Given the description of an element on the screen output the (x, y) to click on. 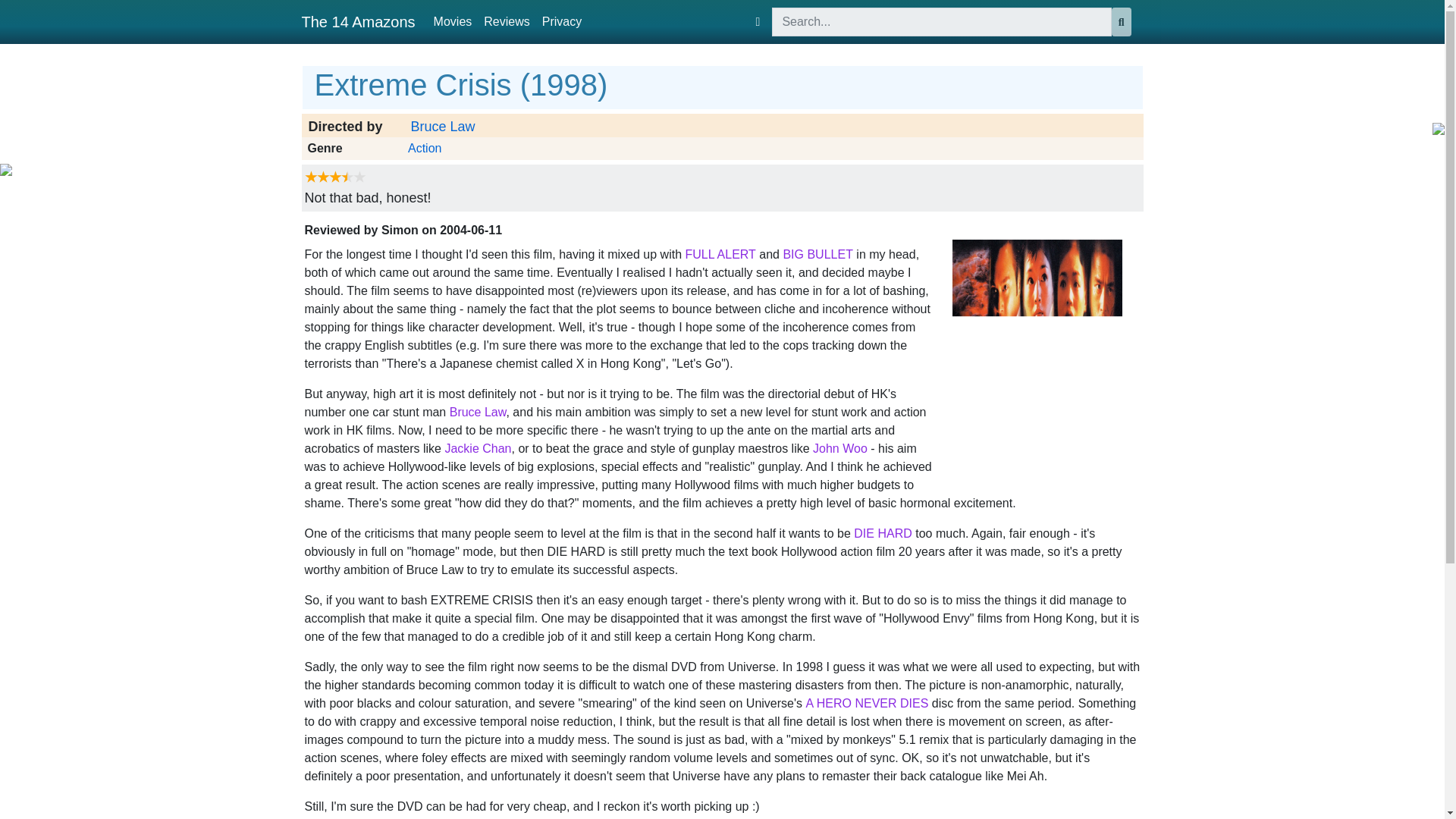
Bruce Law (443, 127)
Action (424, 148)
Privacy (561, 21)
The 14 Amazons (357, 21)
Reviews (506, 21)
Movies (453, 21)
